Given the description of an element on the screen output the (x, y) to click on. 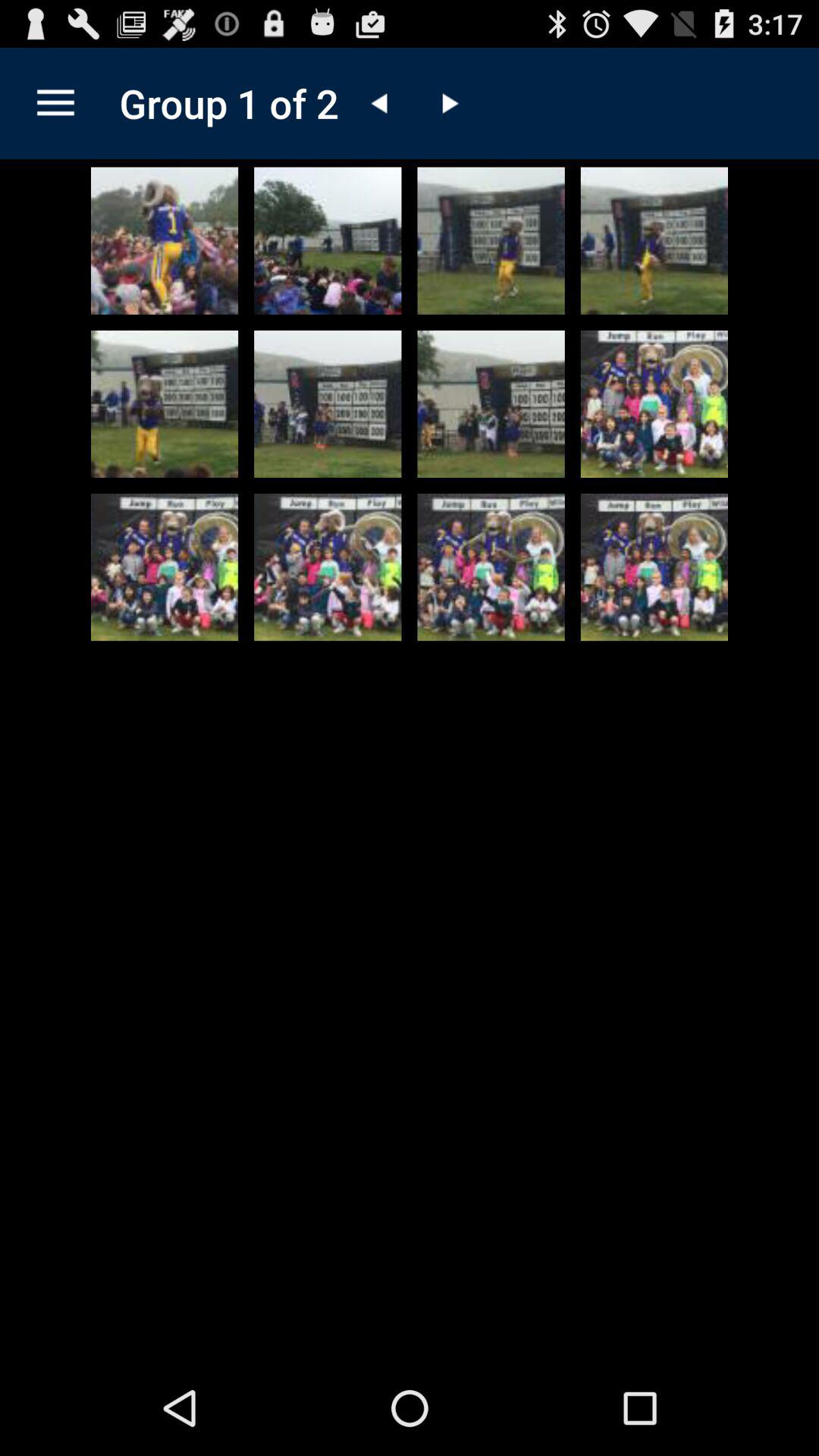
open image (654, 566)
